Given the description of an element on the screen output the (x, y) to click on. 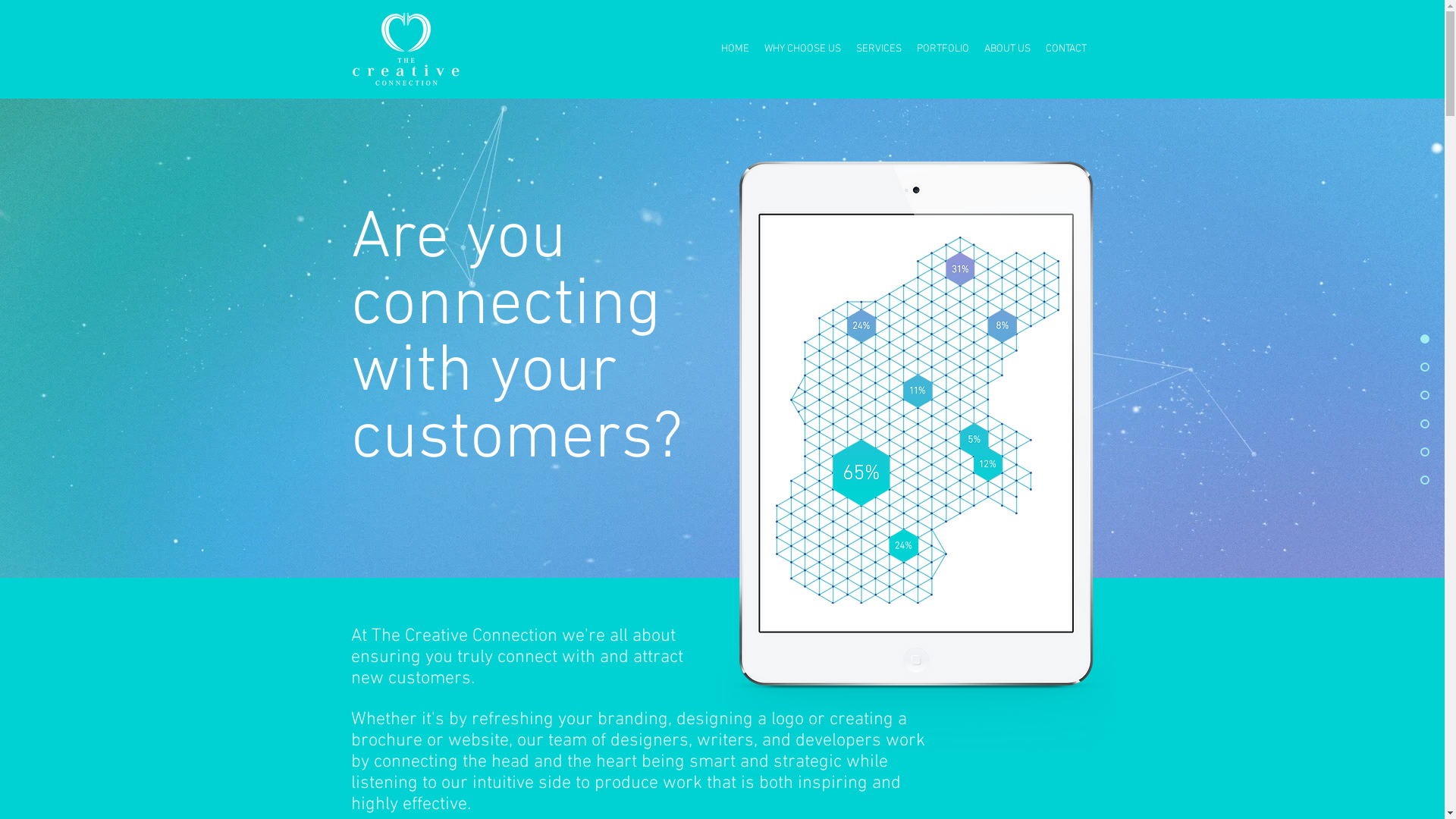
the creative connection_logo white transparent.png Element type: hover (405, 48)
PORTFOLIO Element type: text (941, 49)
CONTACT Element type: text (1065, 49)
HOME Element type: text (734, 49)
WHY CHOOSE US Element type: text (802, 49)
SERVICES Element type: text (877, 49)
ABOUT US Element type: text (1007, 49)
